Given the description of an element on the screen output the (x, y) to click on. 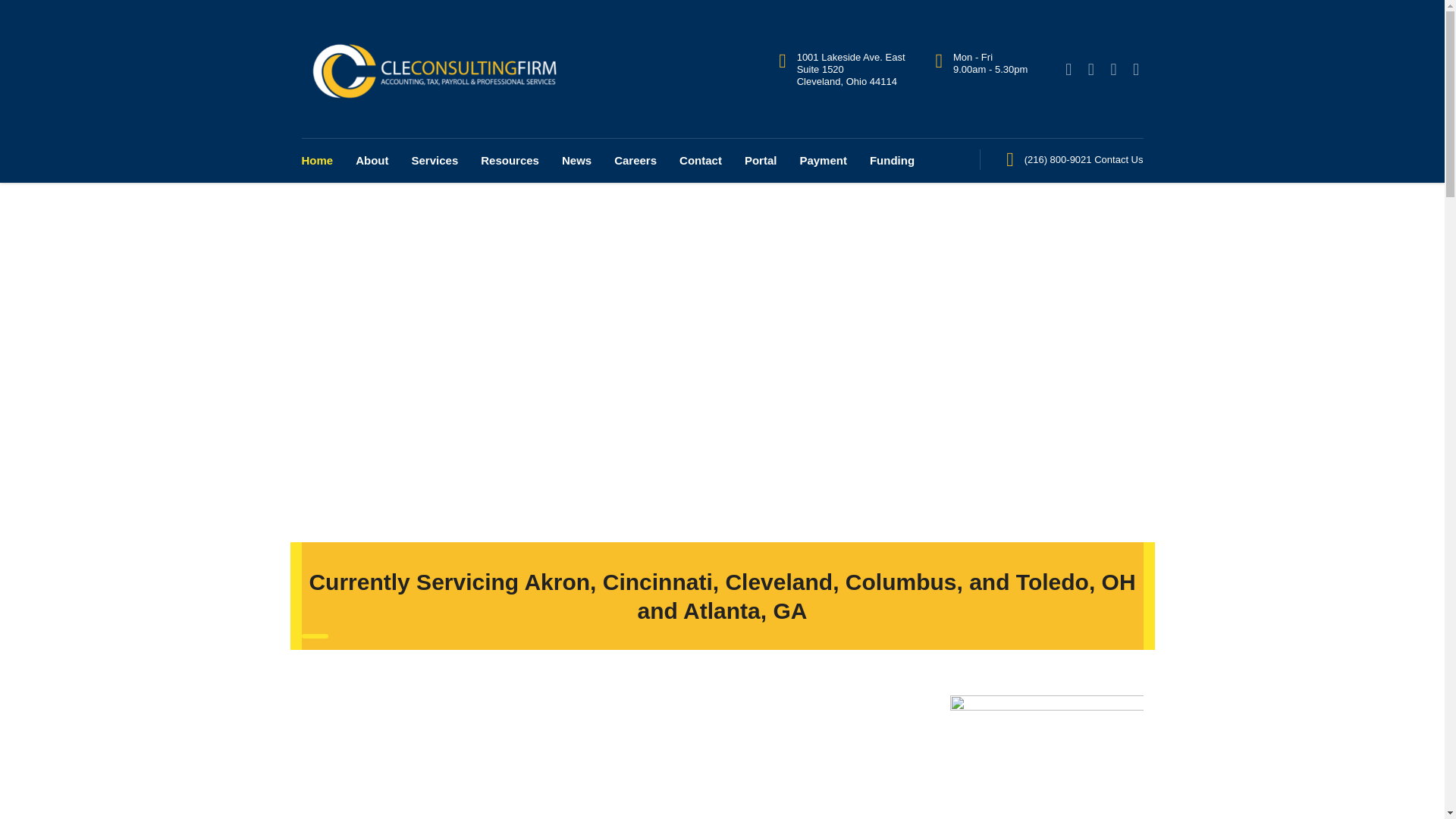
Payment (823, 160)
About (370, 160)
Services (435, 160)
Home (323, 160)
Funding (886, 160)
Resources (509, 160)
Careers (635, 160)
Contact (700, 160)
Portal (761, 160)
News (576, 160)
